Given the description of an element on the screen output the (x, y) to click on. 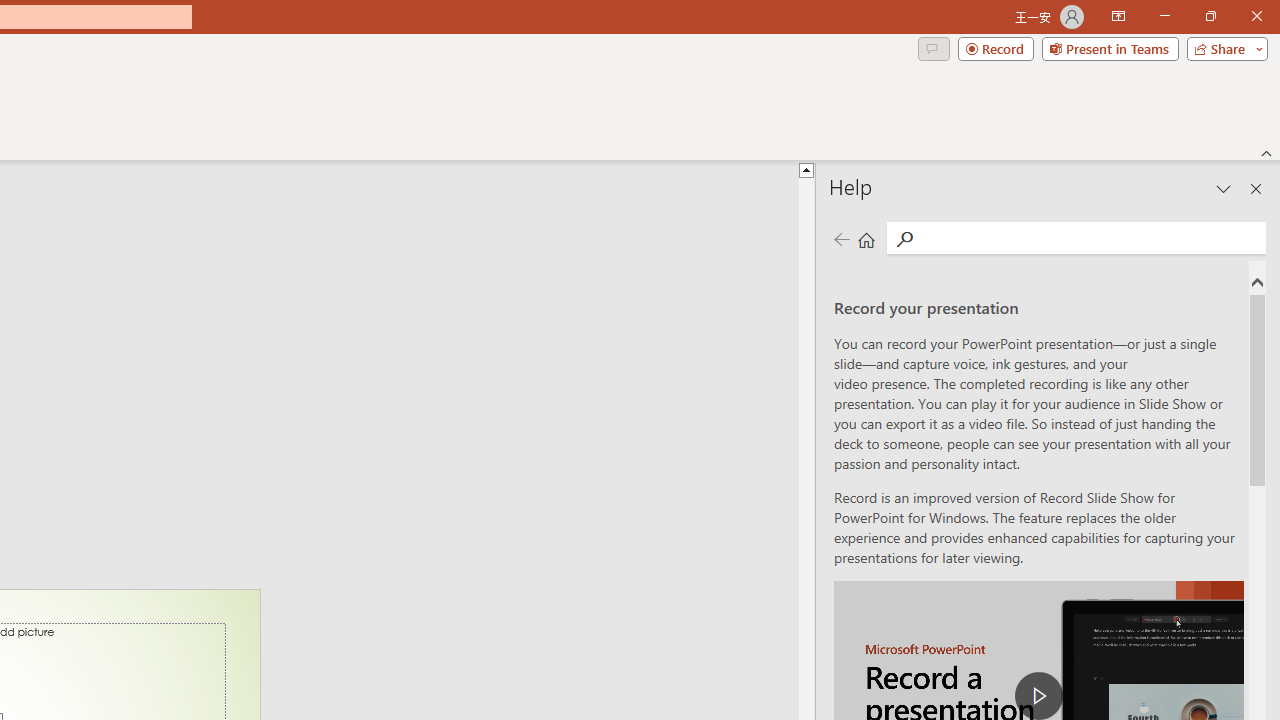
play Record a Presentation (1038, 695)
Previous page (841, 238)
